Given the description of an element on the screen output the (x, y) to click on. 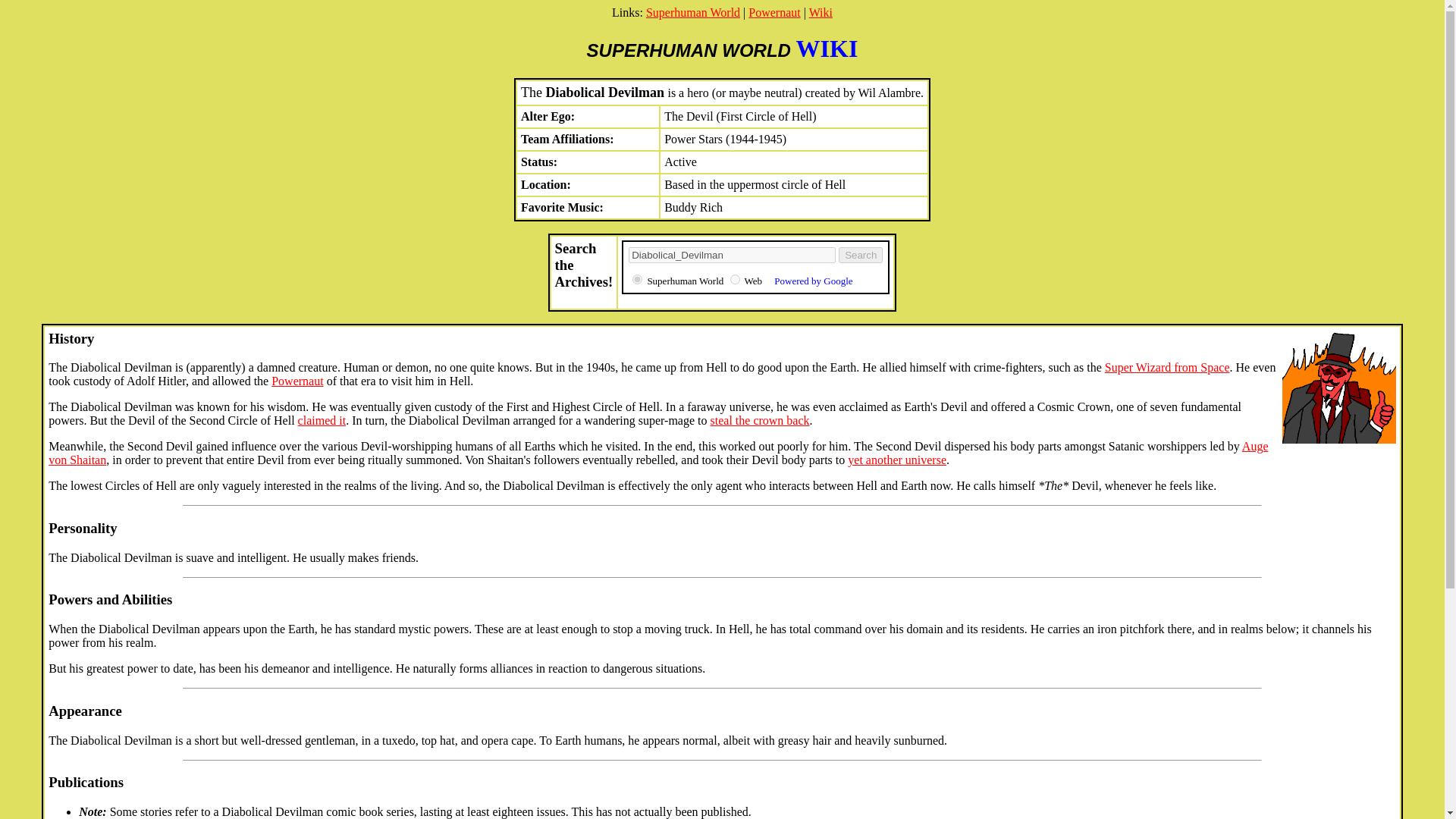
Wiki (820, 11)
!012591315999012145390:ledzkpdvoli (734, 279)
Search (731, 254)
Alter Ego: (548, 115)
012591315999012145390:ledzkpdvoli (636, 279)
Super Wizard from Space (1167, 367)
Search (860, 254)
Location: (545, 184)
Search (860, 254)
Superhuman World (692, 11)
Powernaut (773, 11)
claimed it (322, 420)
Powernaut (296, 380)
Favorite Music: (562, 206)
Status: (539, 161)
